Given the description of an element on the screen output the (x, y) to click on. 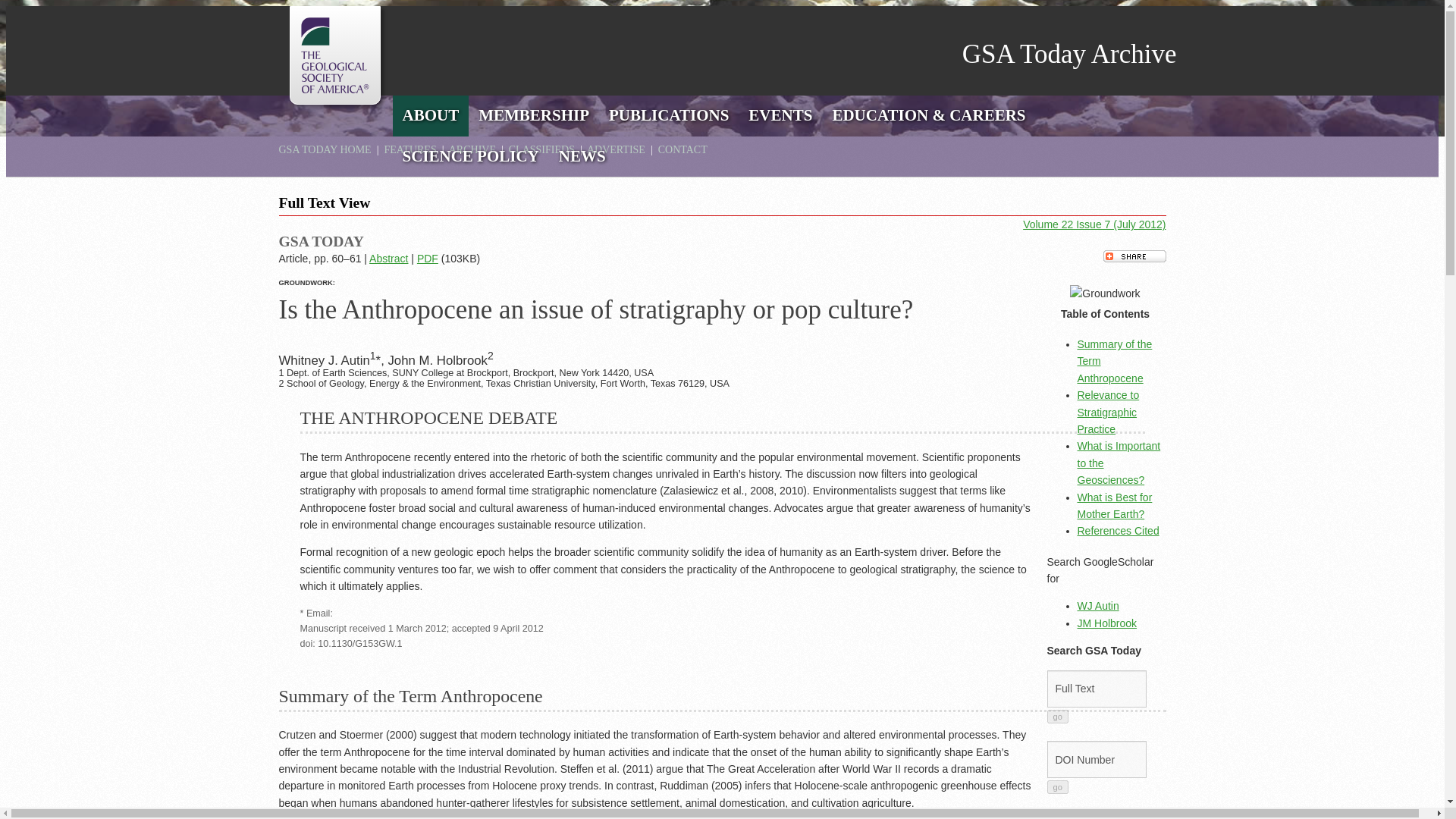
Abstract (388, 258)
go (1056, 716)
CONTACT (682, 149)
go (1056, 786)
WJ Autin (1097, 605)
SCIENCE POLICY (470, 156)
Relevance to Stratigraphic Practice (1107, 411)
ADVERTISE (615, 149)
JM Holbrook (1107, 623)
EVENTS (780, 115)
What is Important to the Geosciences? (1118, 462)
FEATURES (409, 149)
DOI Number (1095, 759)
ABOUT (430, 115)
PDF (427, 258)
